Given the description of an element on the screen output the (x, y) to click on. 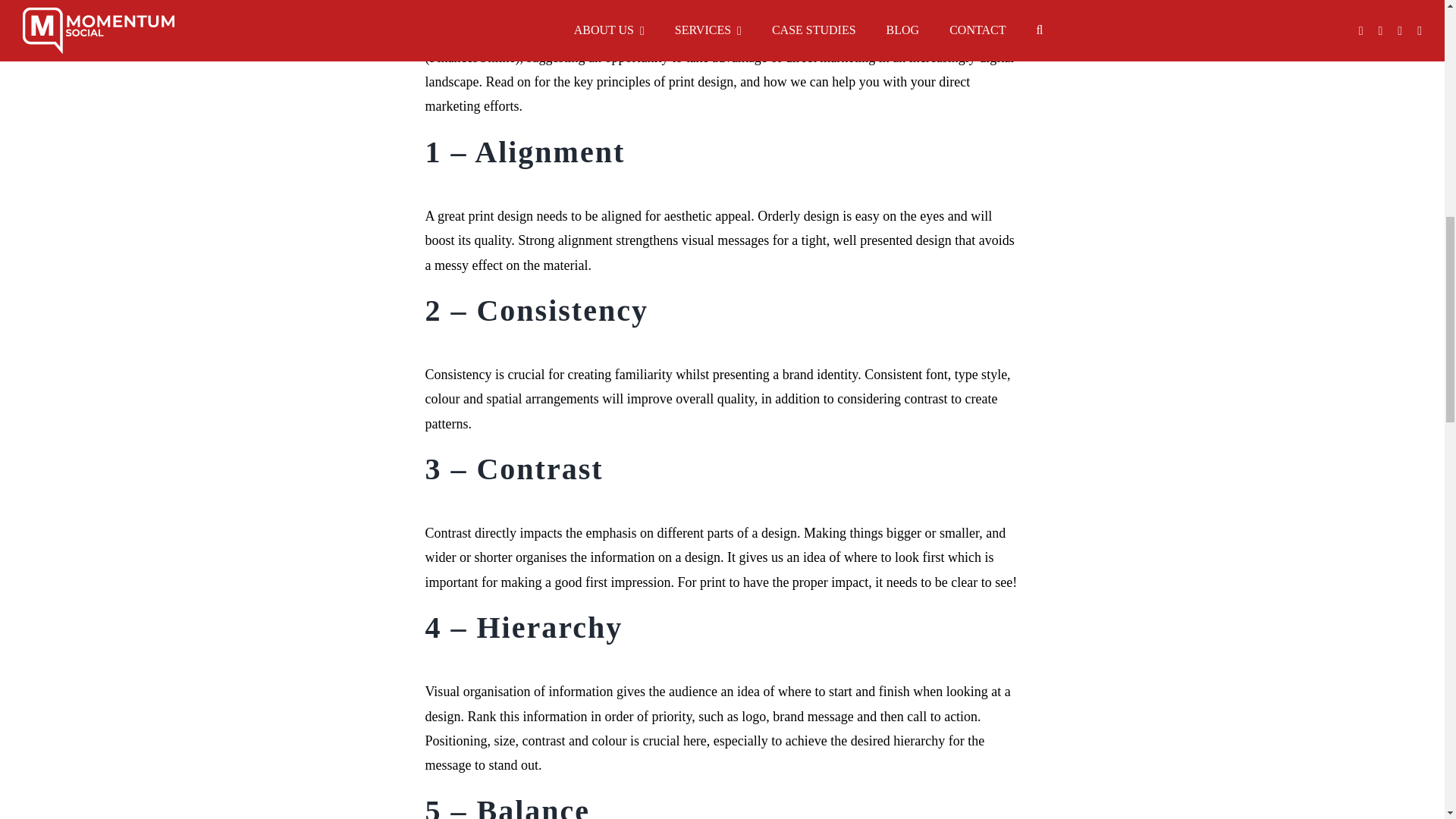
FinancesOnline (472, 57)
